Given the description of an element on the screen output the (x, y) to click on. 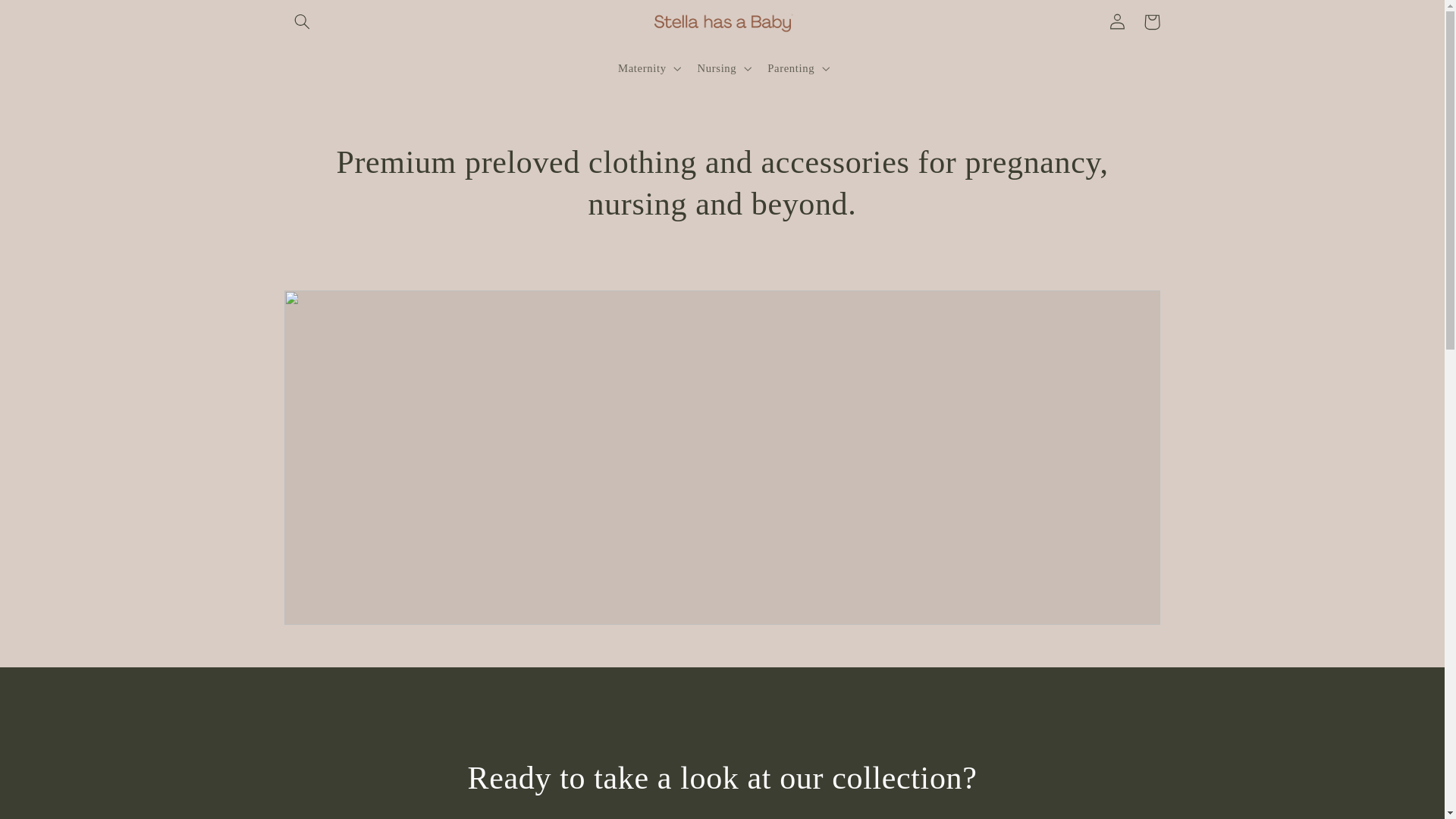
Skip to content (48, 18)
